Given the description of an element on the screen output the (x, y) to click on. 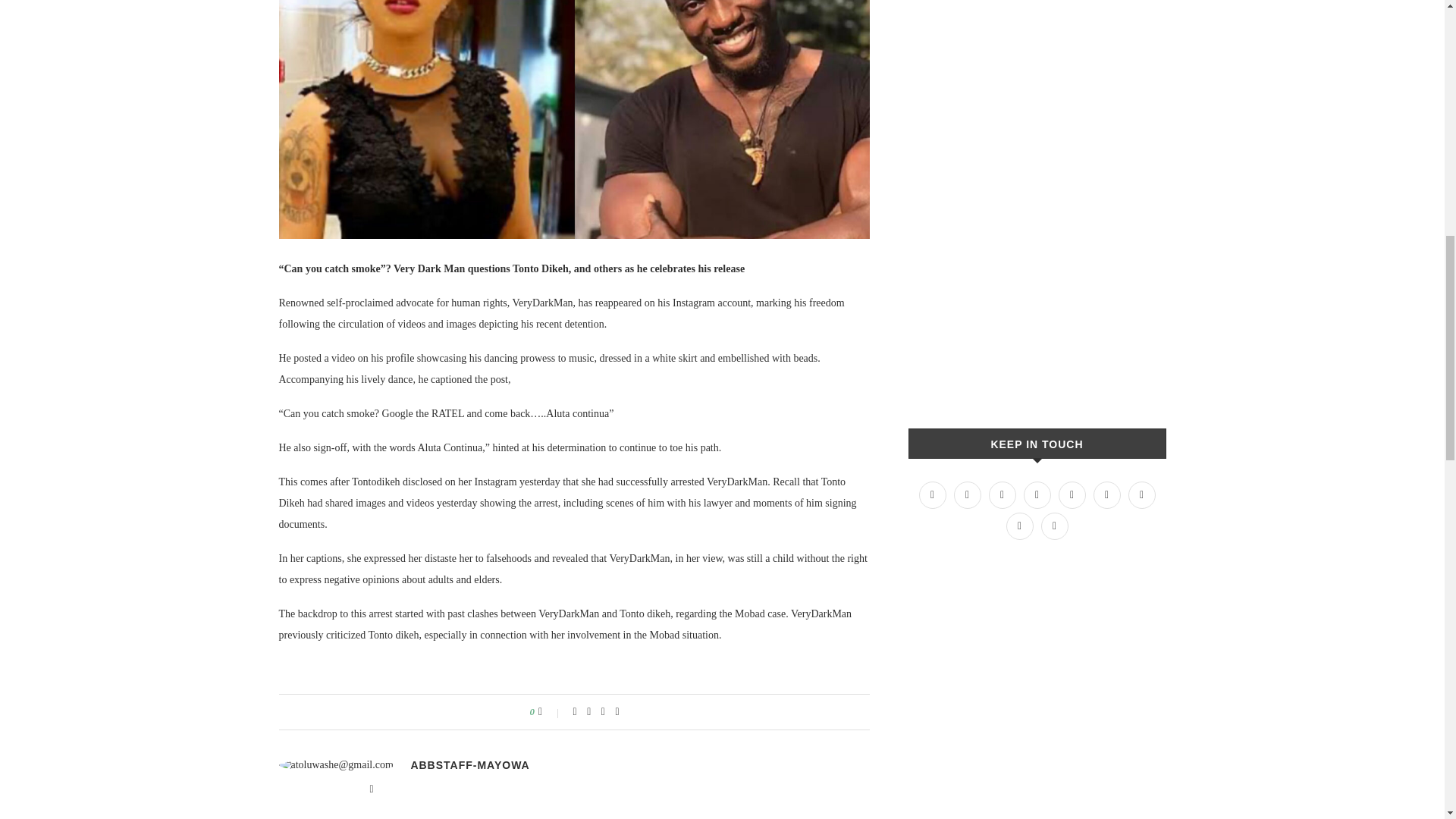
Posts by ABBStaff-Mayowa (469, 765)
Like (550, 711)
